Given the description of an element on the screen output the (x, y) to click on. 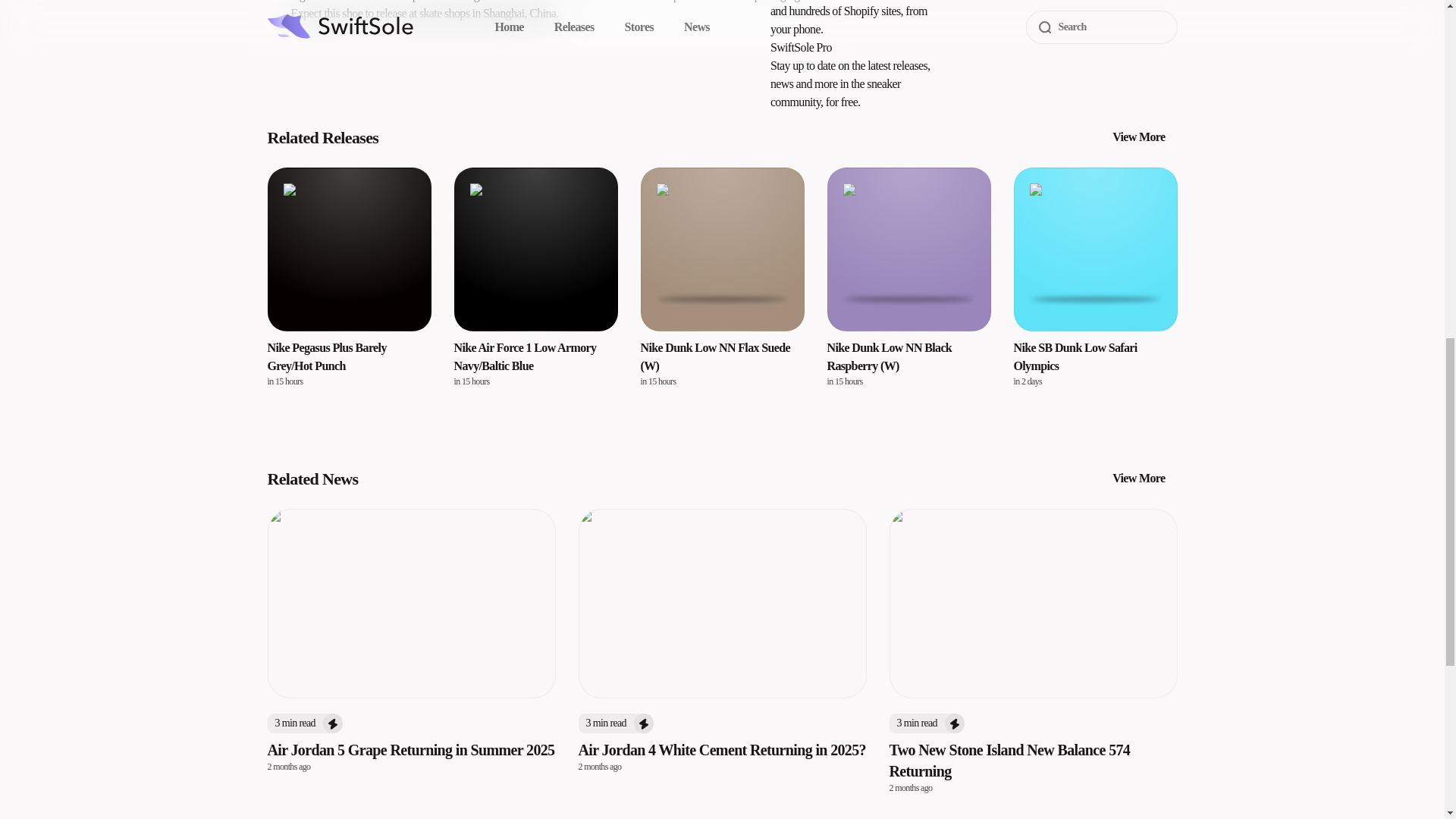
View More (1138, 137)
View More (1138, 478)
